Given the description of an element on the screen output the (x, y) to click on. 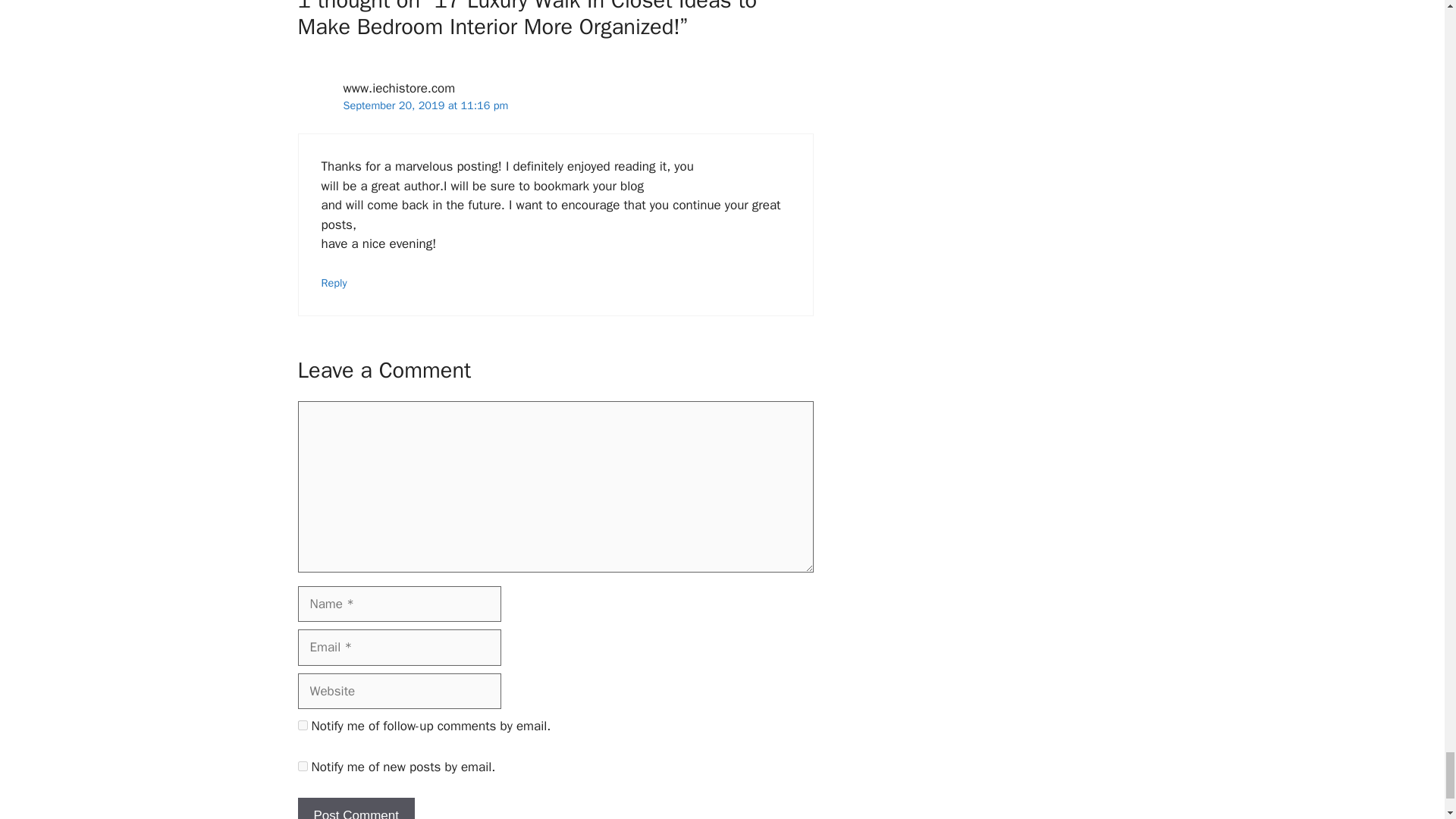
subscribe (302, 766)
subscribe (302, 725)
Post Comment (355, 808)
